Given the description of an element on the screen output the (x, y) to click on. 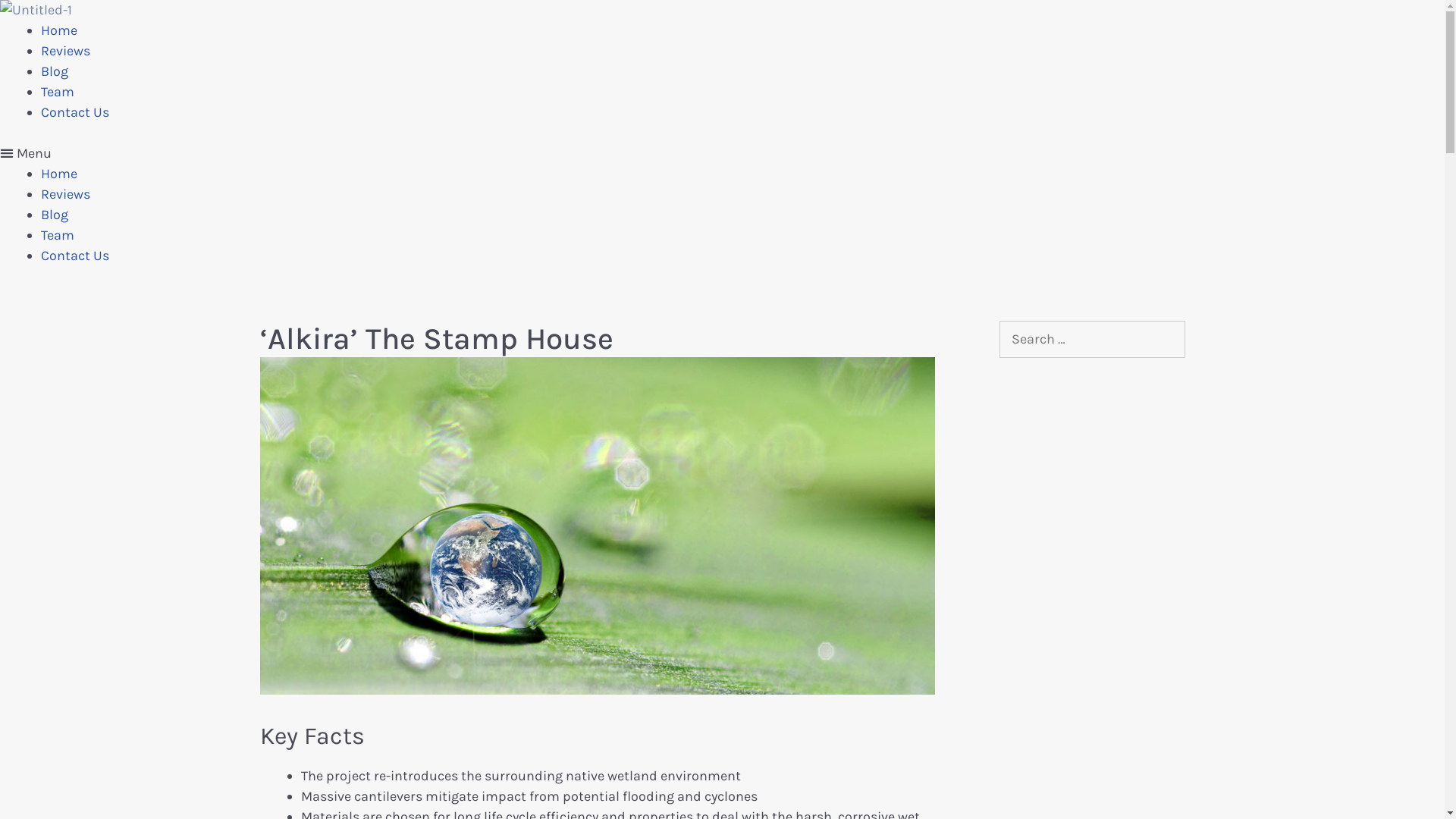
Reviews Element type: text (65, 50)
Team Element type: text (57, 234)
Search for: Element type: hover (1092, 338)
Blog Element type: text (54, 214)
Team Element type: text (57, 91)
Home Element type: text (58, 29)
Contact Us Element type: text (74, 255)
Blog Element type: text (54, 70)
Reviews Element type: text (65, 193)
Untitled-1 Element type: hover (36, 10)
Home Element type: text (58, 173)
Search Element type: text (37, 18)
Contact Us Element type: text (74, 111)
